Given the description of an element on the screen output the (x, y) to click on. 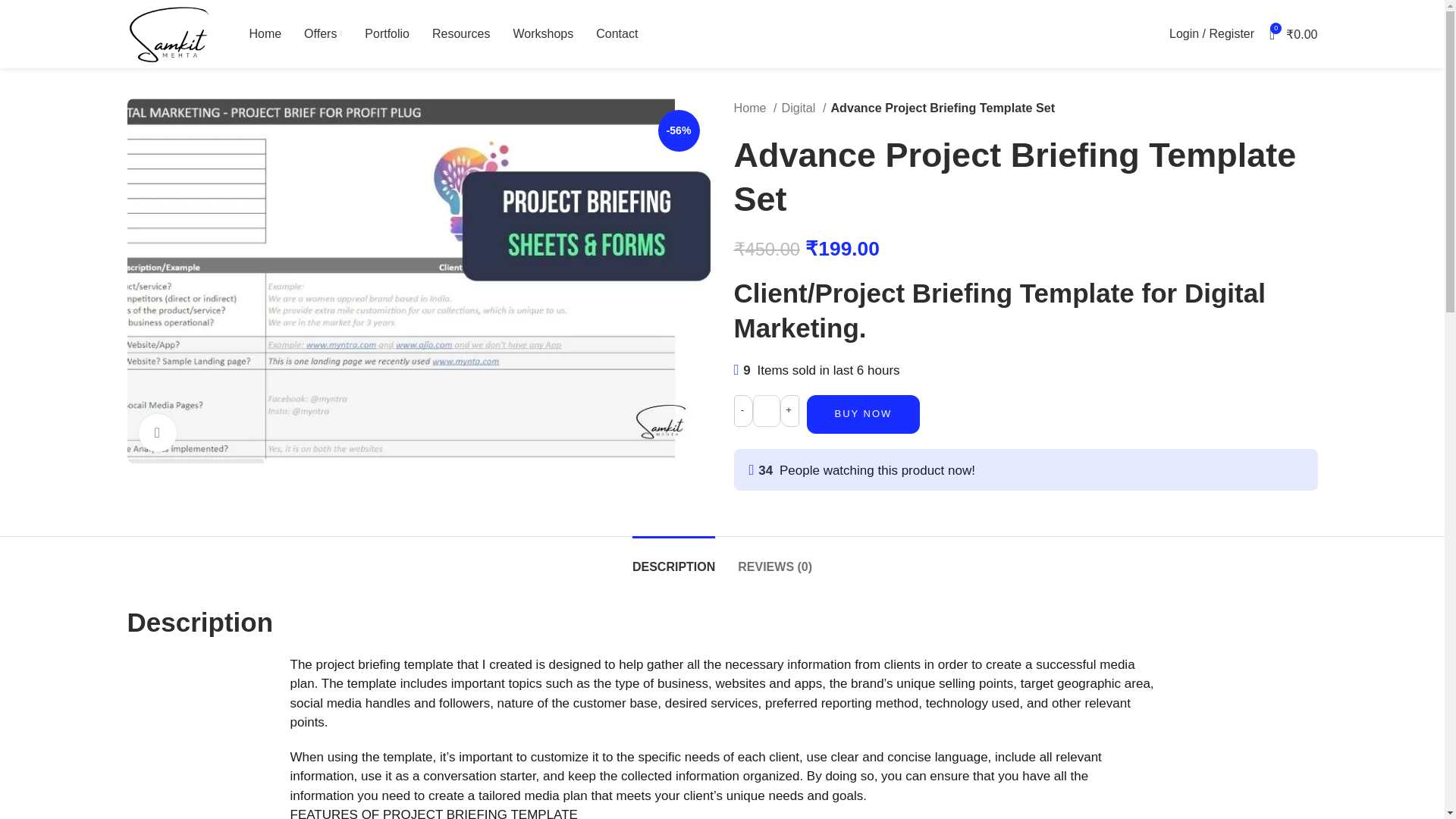
Digital (804, 107)
DESCRIPTION (672, 559)
Workshops (542, 33)
Offers (323, 33)
My account (1211, 33)
Home (755, 107)
Home (264, 33)
- (742, 410)
Contact (616, 33)
BUY NOW (863, 414)
Portfolio (387, 33)
Resources (460, 33)
Shopping cart (1293, 33)
1 (765, 410)
